Given the description of an element on the screen output the (x, y) to click on. 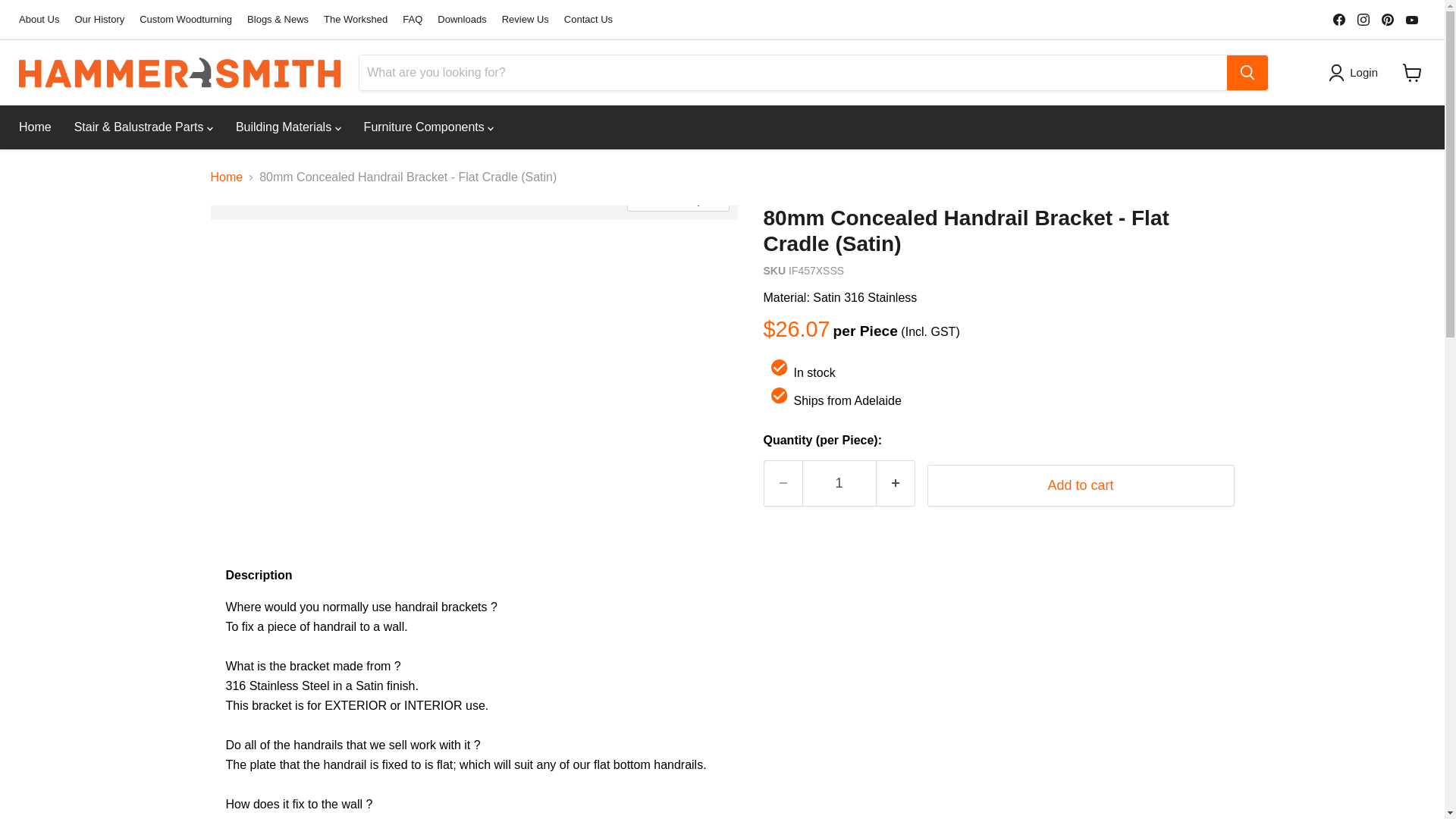
View cart (1411, 72)
Login (1355, 72)
1 (839, 483)
Contact Us (588, 19)
Home (34, 127)
Instagram (1363, 19)
About Us (38, 19)
FAQ (412, 19)
YouTube (1411, 19)
Find us on Pinterest (1387, 19)
The Workshed (355, 19)
Review Us (525, 19)
Facebook (1338, 19)
Downloads (462, 19)
Our History (98, 19)
